Given the description of an element on the screen output the (x, y) to click on. 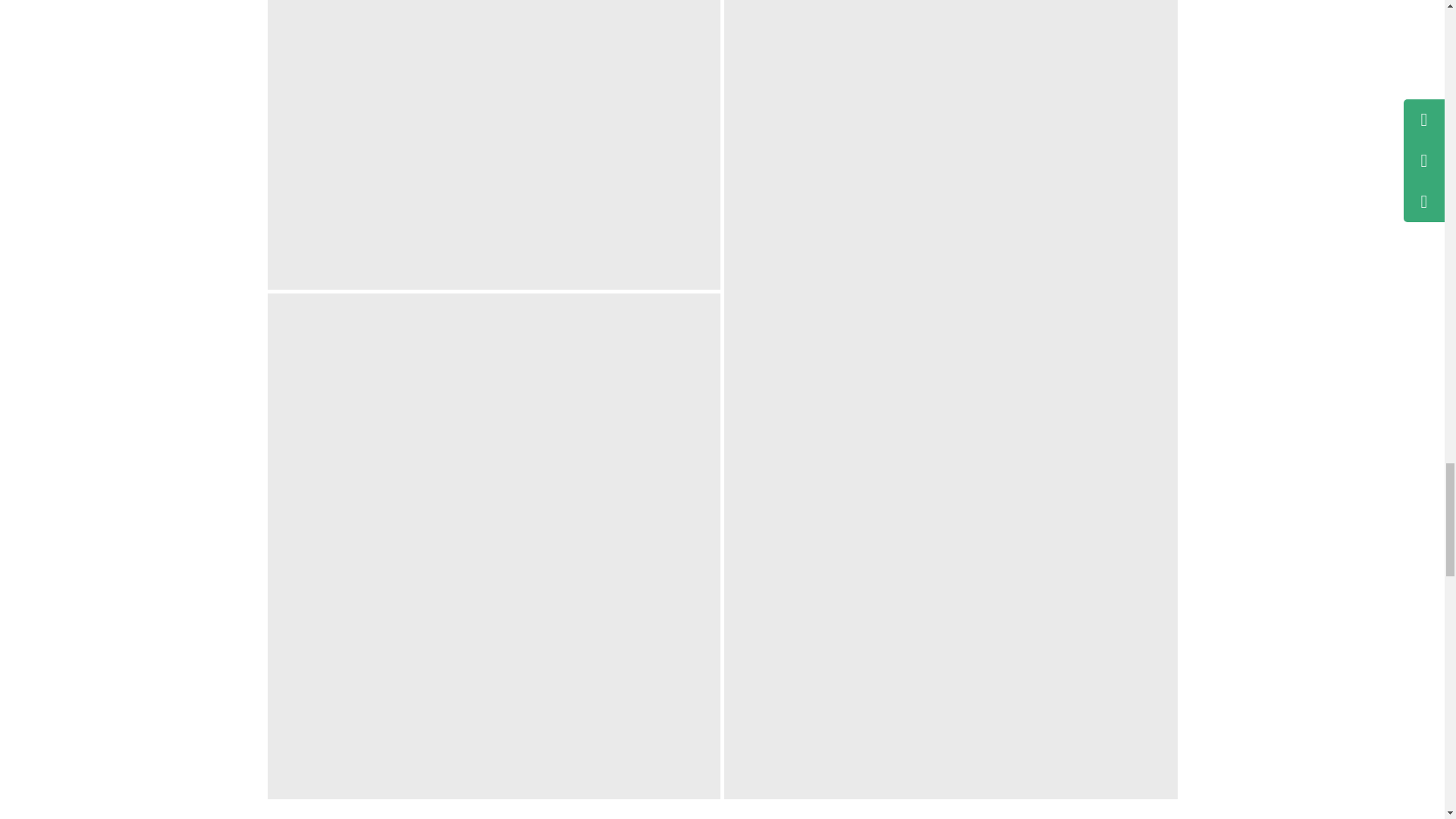
Click Here (493, 144)
